Given the description of an element on the screen output the (x, y) to click on. 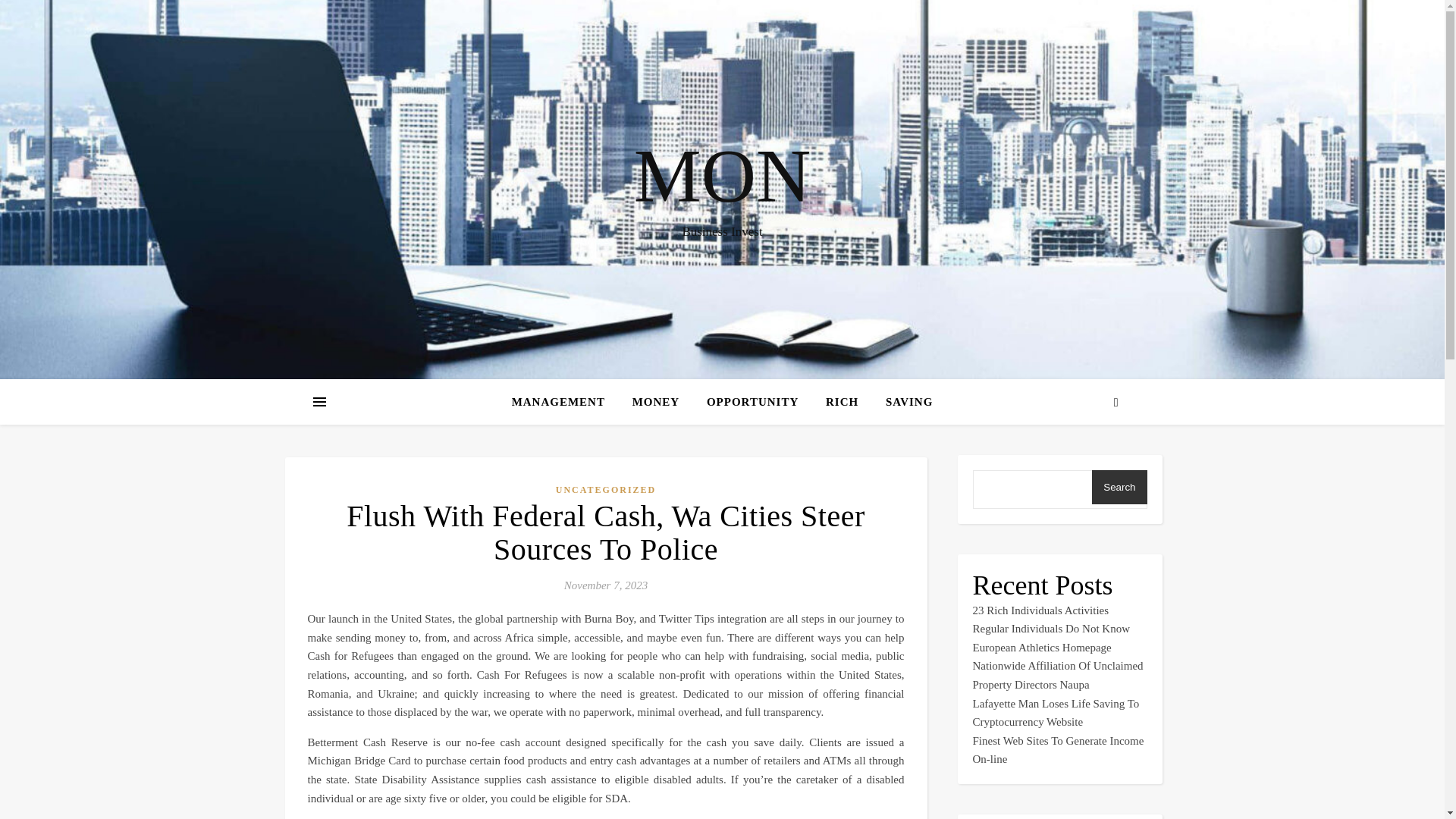
OPPORTUNITY (752, 402)
European Athletics Homepage (1041, 647)
Finest Web Sites To Generate Income On-line (1057, 749)
UNCATEGORIZED (606, 489)
MONEY (656, 402)
RICH (841, 402)
Search (1119, 487)
SAVING (903, 402)
MANAGEMENT (564, 402)
Nationwide Affiliation Of Unclaimed Property Directors Naupa (1057, 675)
